Given the description of an element on the screen output the (x, y) to click on. 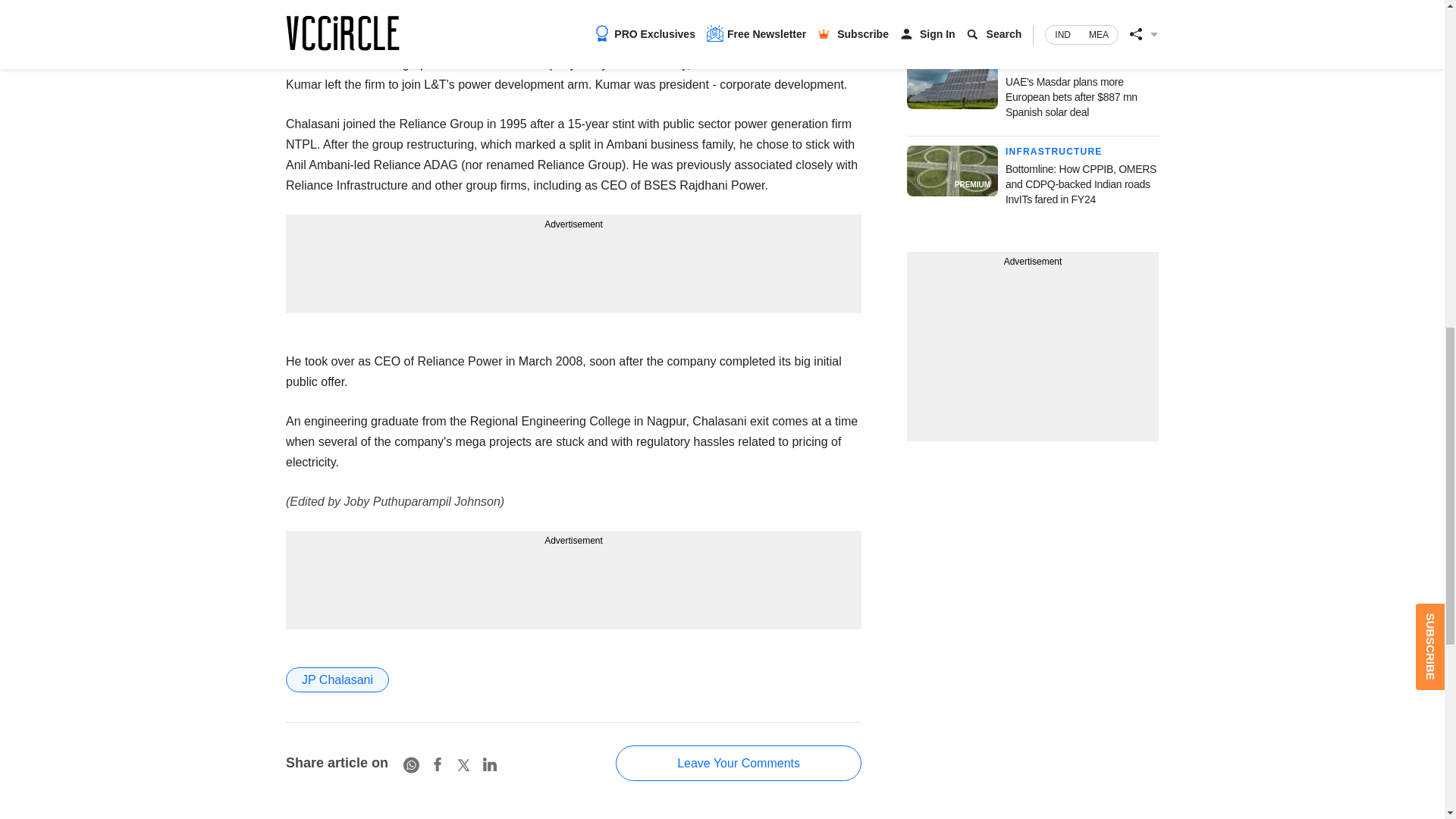
JP Chalasani (336, 679)
Leave Your Comments (738, 763)
